Given the description of an element on the screen output the (x, y) to click on. 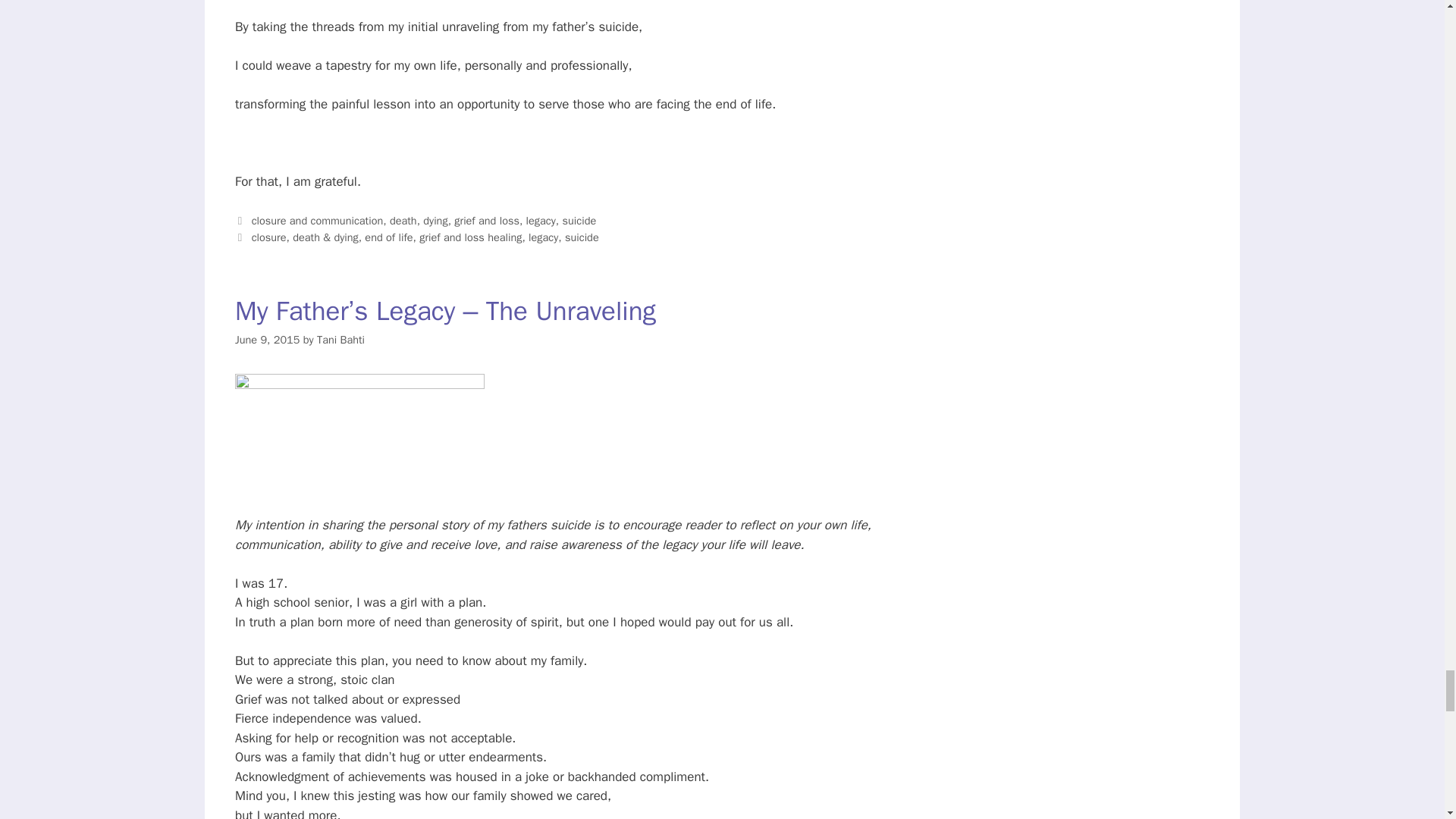
View all posts by Tani Bahti (341, 339)
